Given the description of an element on the screen output the (x, y) to click on. 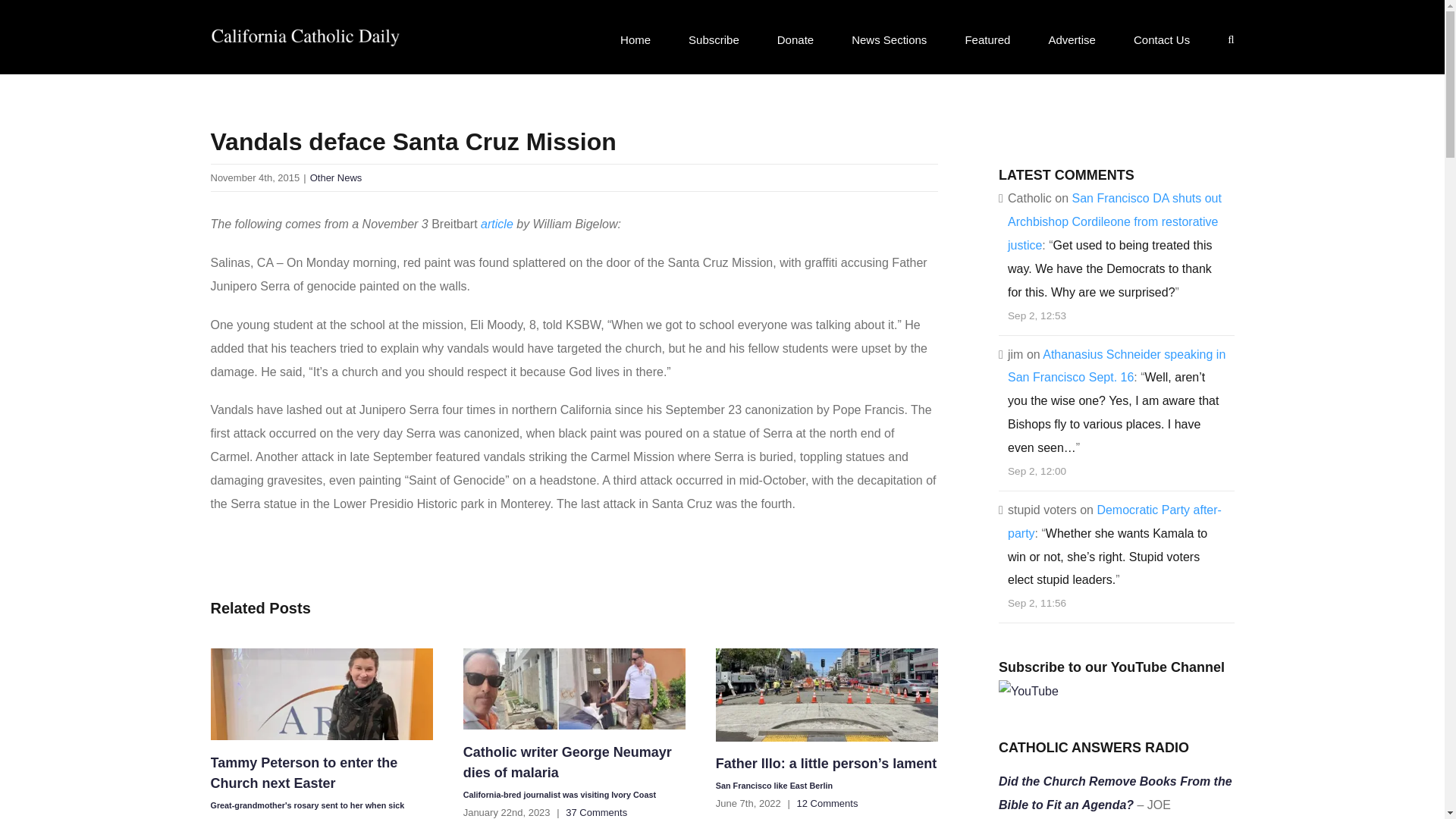
News Sections (888, 39)
